Given the description of an element on the screen output the (x, y) to click on. 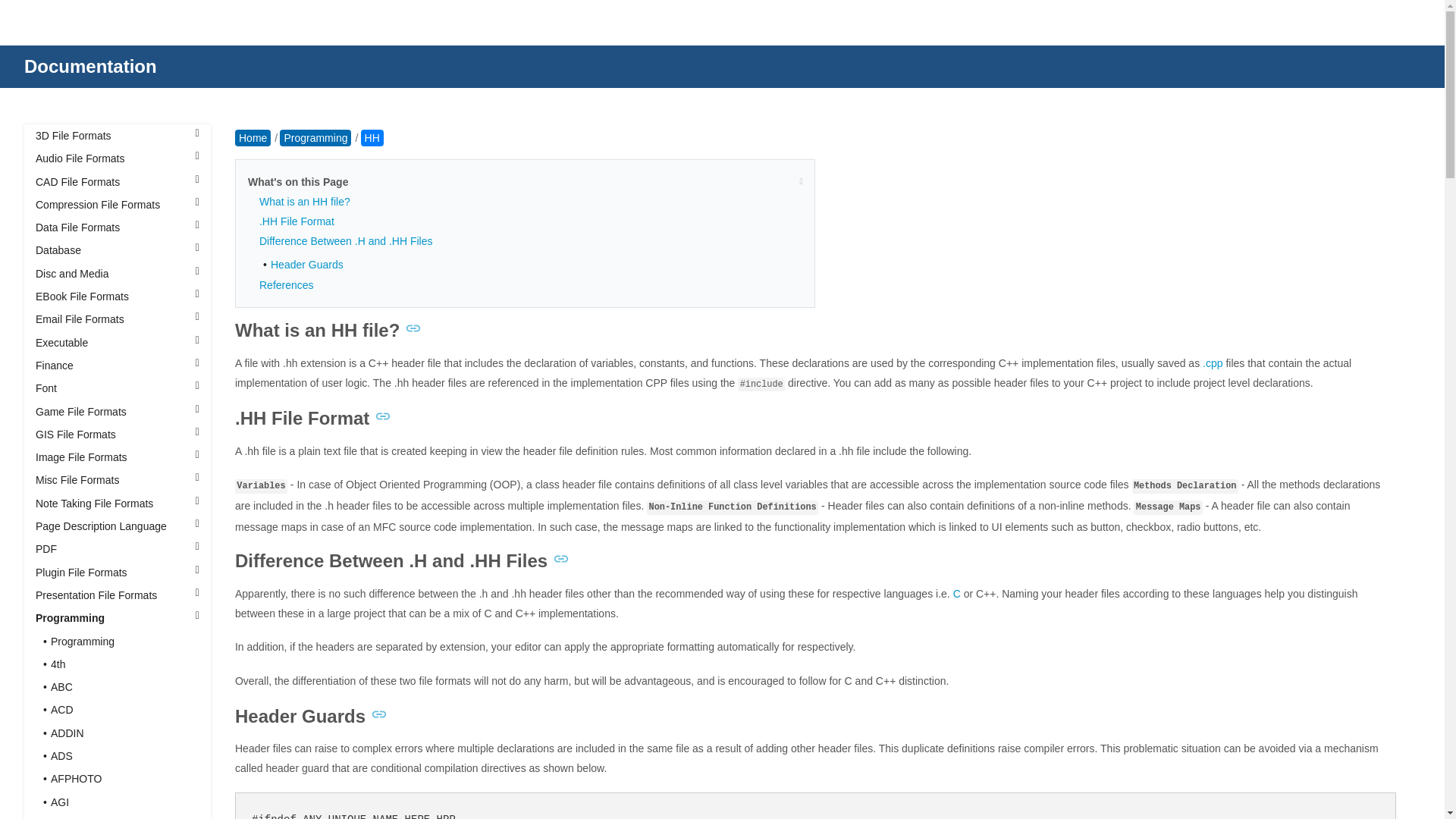
Documentation (90, 66)
3D File Formats (117, 135)
